Given the description of an element on the screen output the (x, y) to click on. 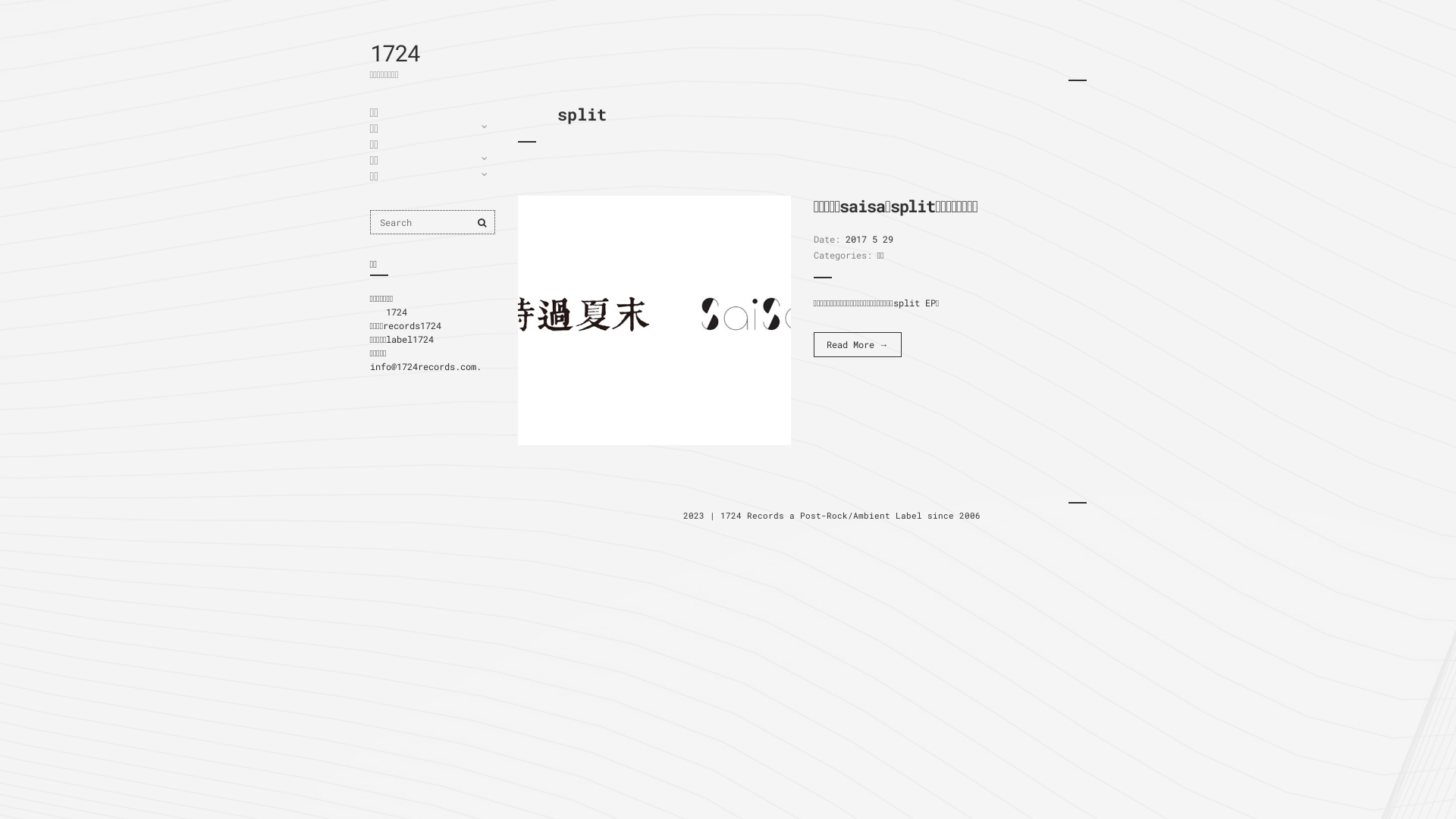
Search Element type: text (481, 222)
a Post-Rock/Ambient Label since 2006 Element type: text (886, 514)
2023 | Element type: text (700, 514)
